Given the description of an element on the screen output the (x, y) to click on. 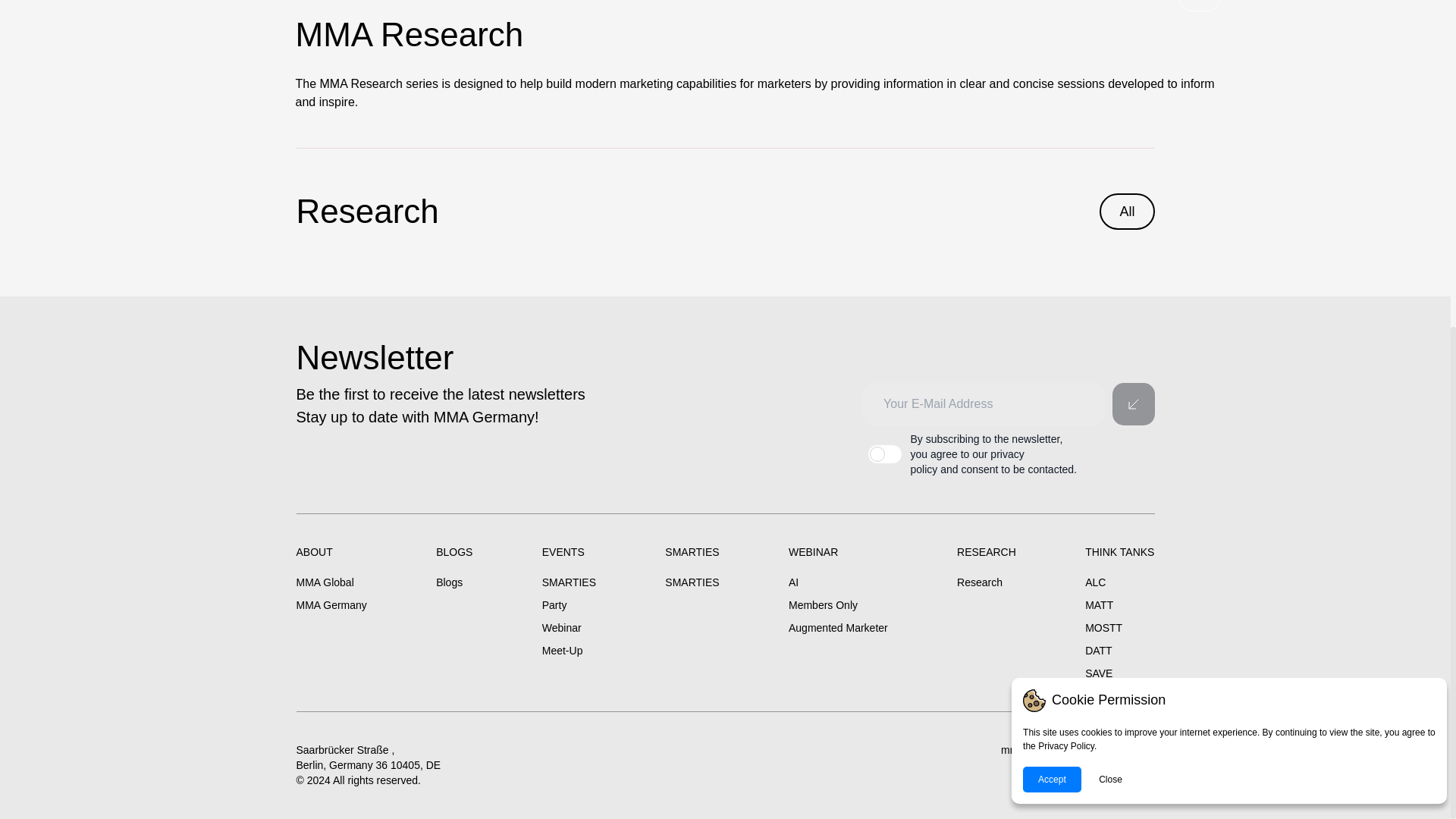
Blogs (453, 581)
Webinar (568, 627)
SMARTIES (568, 581)
Party (568, 604)
Research (366, 211)
MMA Germany (330, 604)
WEBINAR (838, 551)
All (1126, 211)
AI (838, 581)
Meet-Up (568, 650)
SMARTIES (692, 581)
Augmented Marketer (838, 627)
MMA Global (330, 581)
Members Only (838, 604)
